Given the description of an element on the screen output the (x, y) to click on. 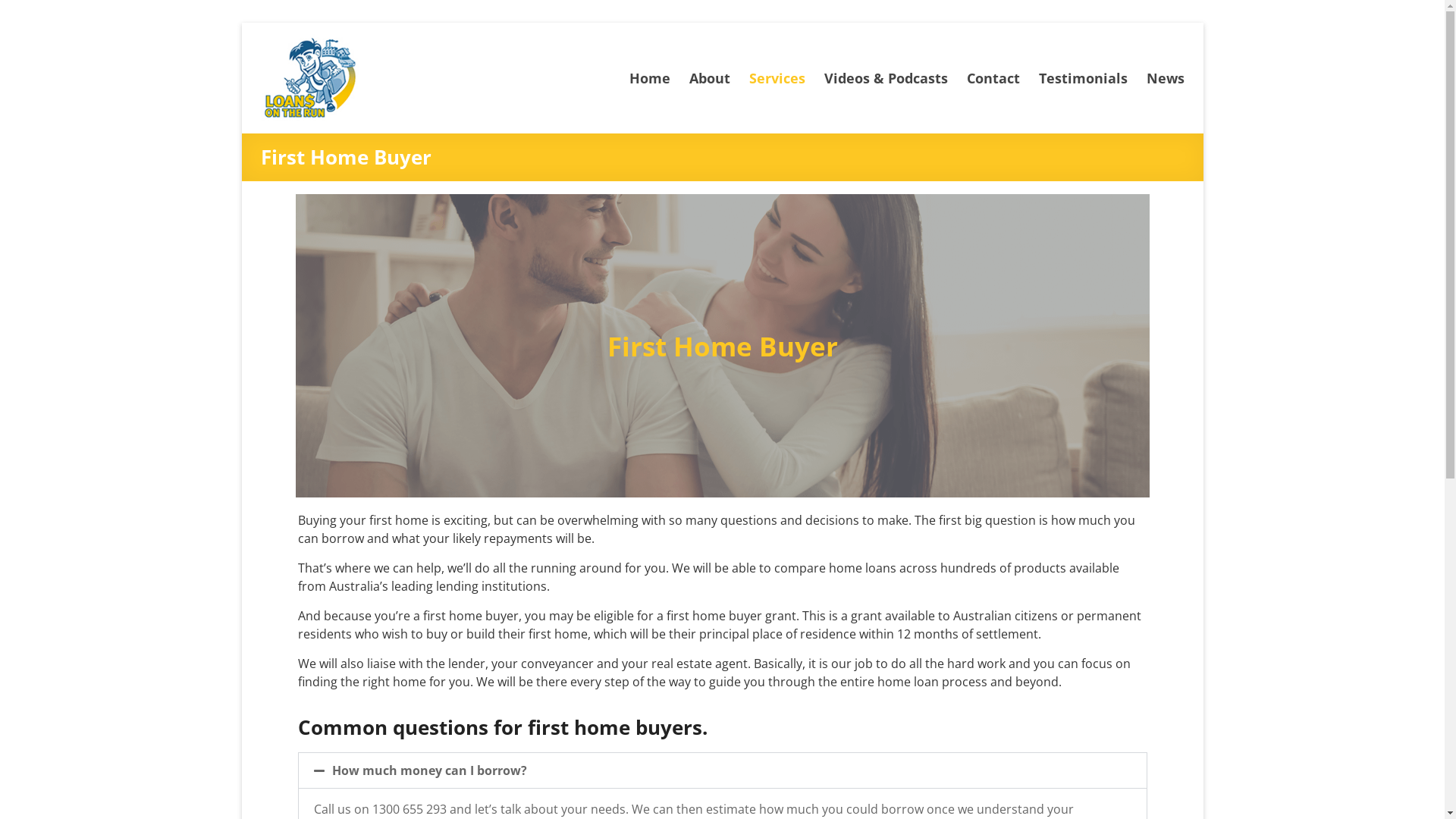
About Element type: text (708, 77)
Home Element type: text (649, 77)
News Element type: text (1165, 77)
Testimonials Element type: text (1082, 77)
How much money can I borrow? Element type: text (429, 770)
Services Element type: text (777, 77)
Contact Element type: text (992, 77)
Videos & Podcasts Element type: text (885, 77)
